Given the description of an element on the screen output the (x, y) to click on. 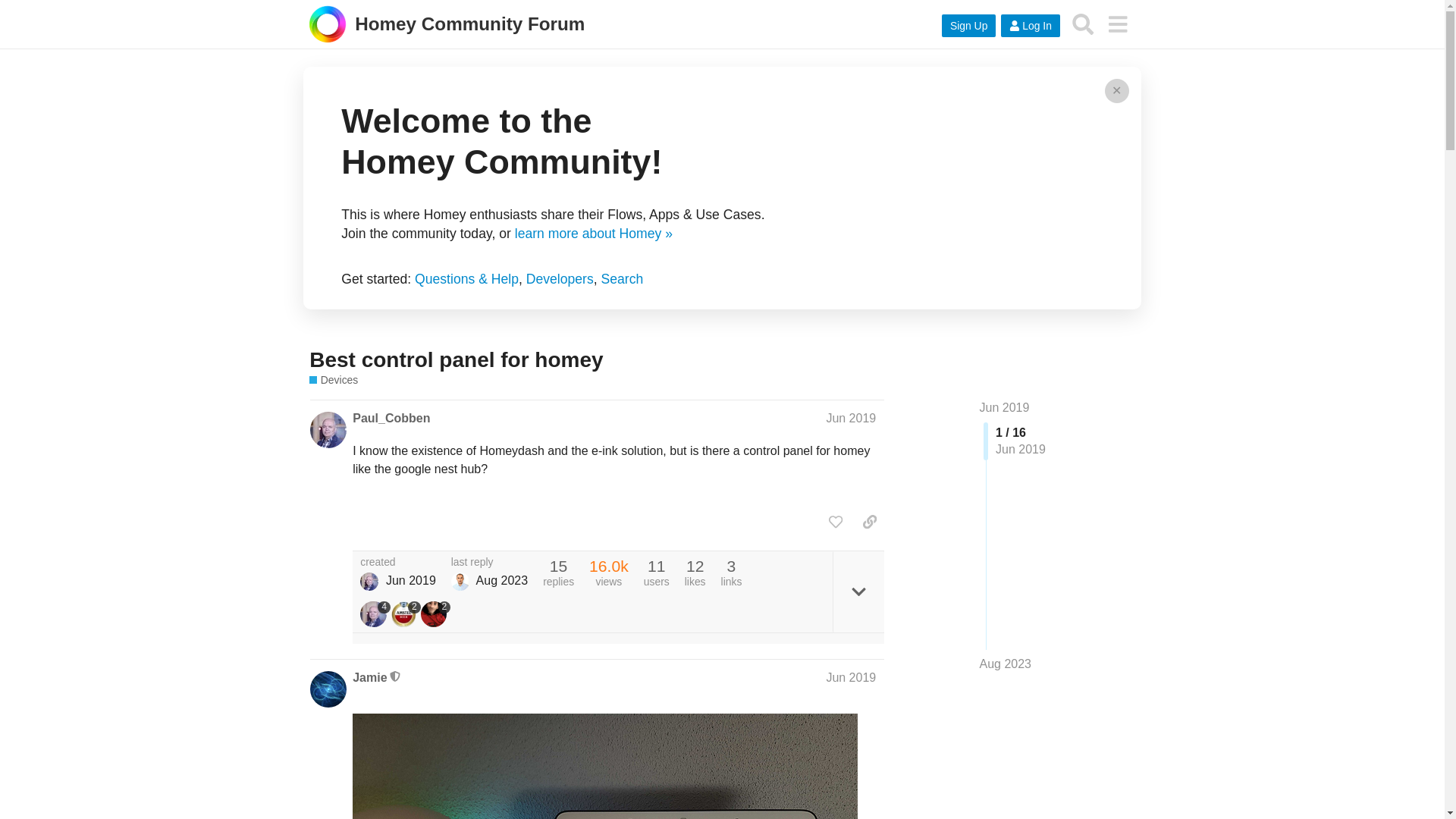
Sign Up (968, 25)
copy a link to this post to clipboard (869, 521)
Homey Community Forum (446, 25)
like this post (835, 521)
Jun 2019 (850, 676)
Jun 2019 (1004, 407)
Search (622, 278)
last reply (489, 562)
Best control panel for homey (455, 359)
2 (435, 614)
Post date (850, 418)
Jun 17, 2019 4:33 pm (410, 580)
Jun 2019 (850, 418)
4 (374, 614)
